Given the description of an element on the screen output the (x, y) to click on. 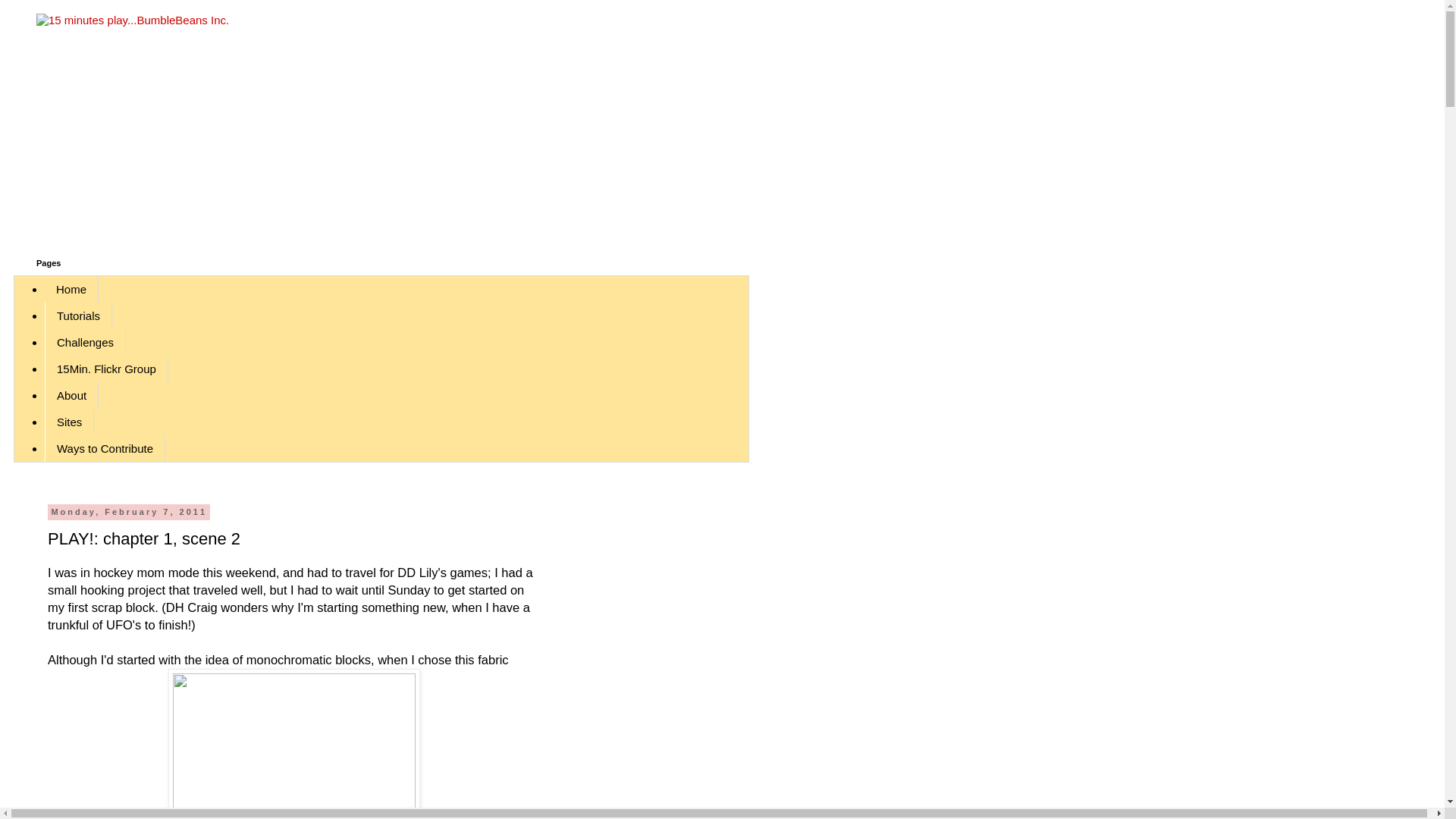
Challenges Element type: text (84, 342)
Sites Element type: text (69, 421)
Ways to Contribute Element type: text (104, 448)
Tutorials Element type: text (78, 315)
15Min. Flickr Group Element type: text (106, 368)
About Element type: text (71, 395)
Home Element type: text (71, 289)
